Given the description of an element on the screen output the (x, y) to click on. 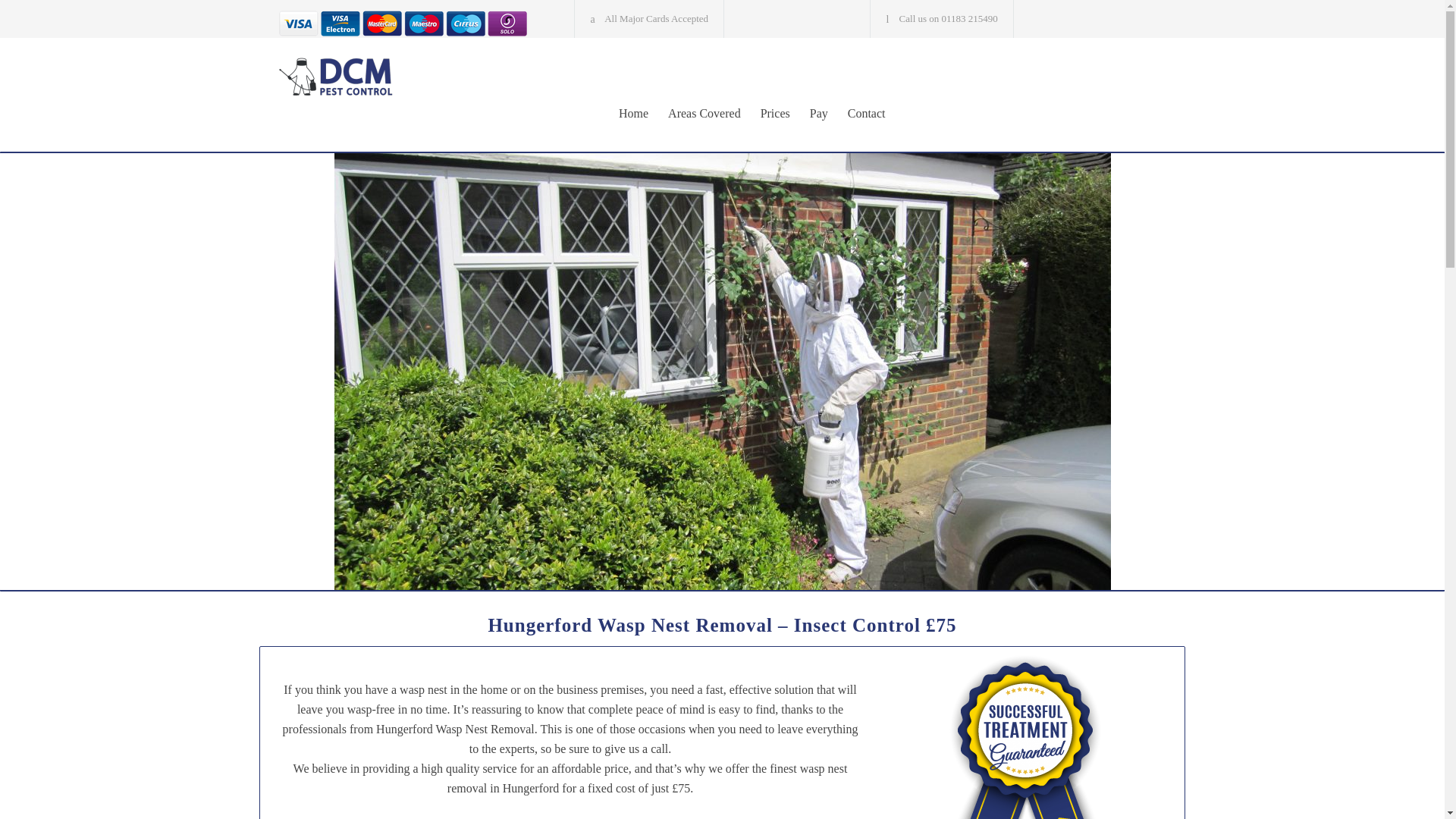
Contact (856, 113)
Prices (765, 113)
Pay (809, 113)
Berkshire Wasp Nest Removal (419, 76)
Areas Covered (694, 113)
